Given the description of an element on the screen output the (x, y) to click on. 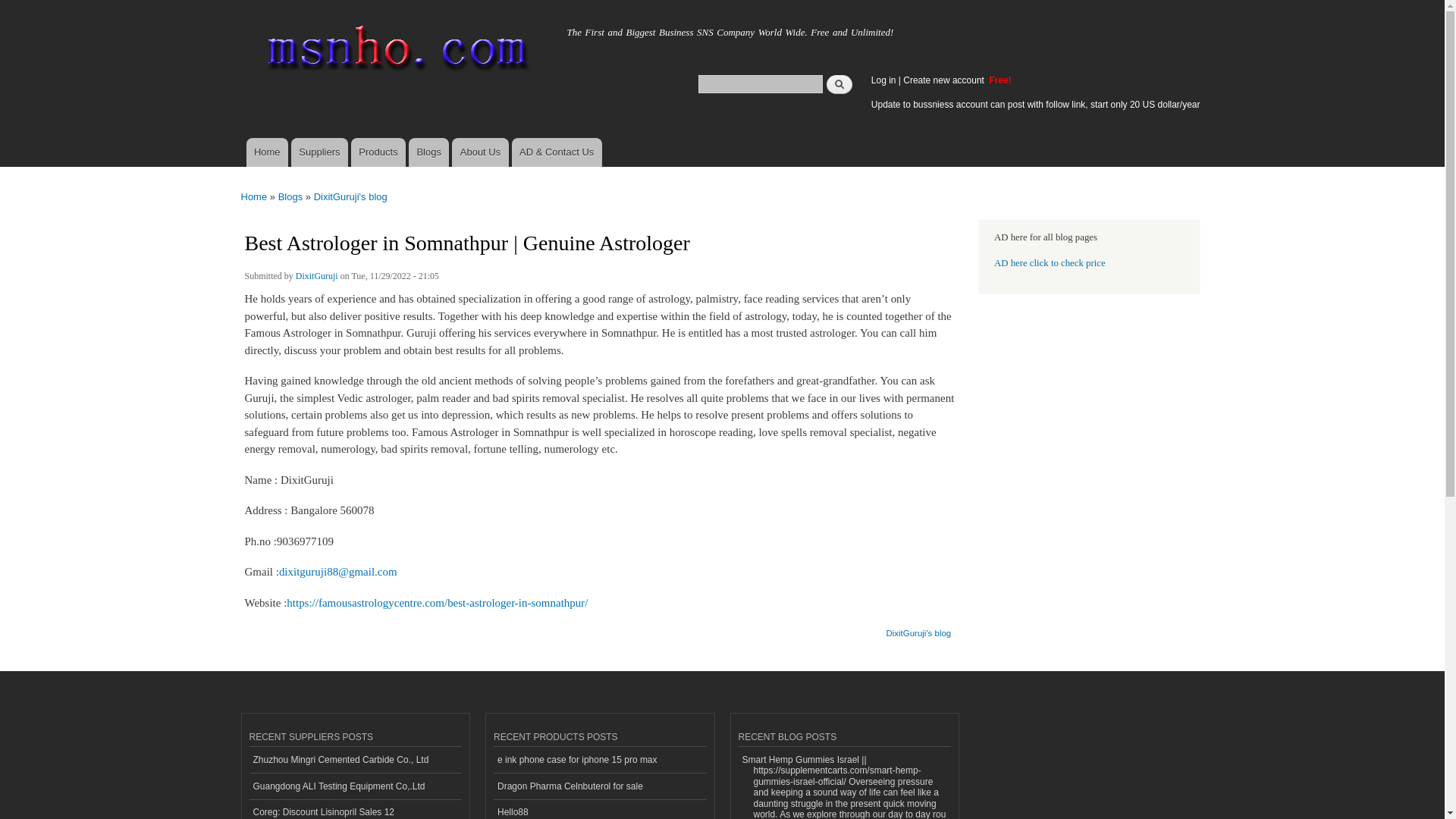
Enter the terms you wish to search for. (760, 83)
Log in (883, 79)
msnho.com (282, 28)
Contact us (557, 152)
DixitGuruji's blog (350, 196)
Read DixitGuruji's latest blog entries. (917, 628)
Home (254, 196)
View user profile. (316, 277)
Coreg: Discount Lisinopril Sales 12 (354, 809)
About us (479, 152)
Suppliers (319, 152)
e ink phone case for iphone 15 pro max (599, 759)
DixitGuruji's blog (917, 628)
Guangdong ALI Testing Equipment Co,.Ltd (354, 786)
Blogs for suppliers and buyers (428, 152)
